Given the description of an element on the screen output the (x, y) to click on. 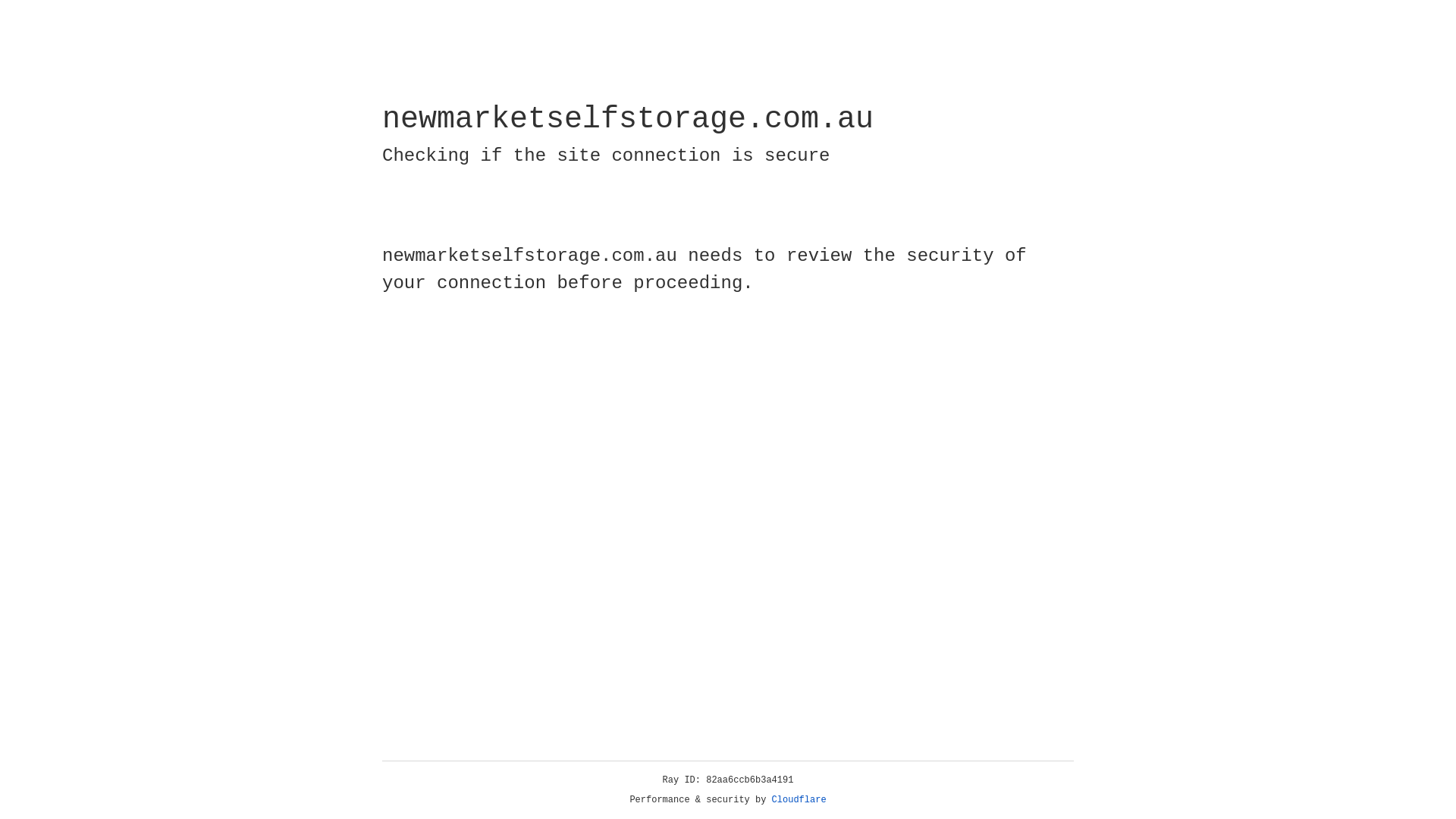
Cloudflare Element type: text (798, 799)
